Given the description of an element on the screen output the (x, y) to click on. 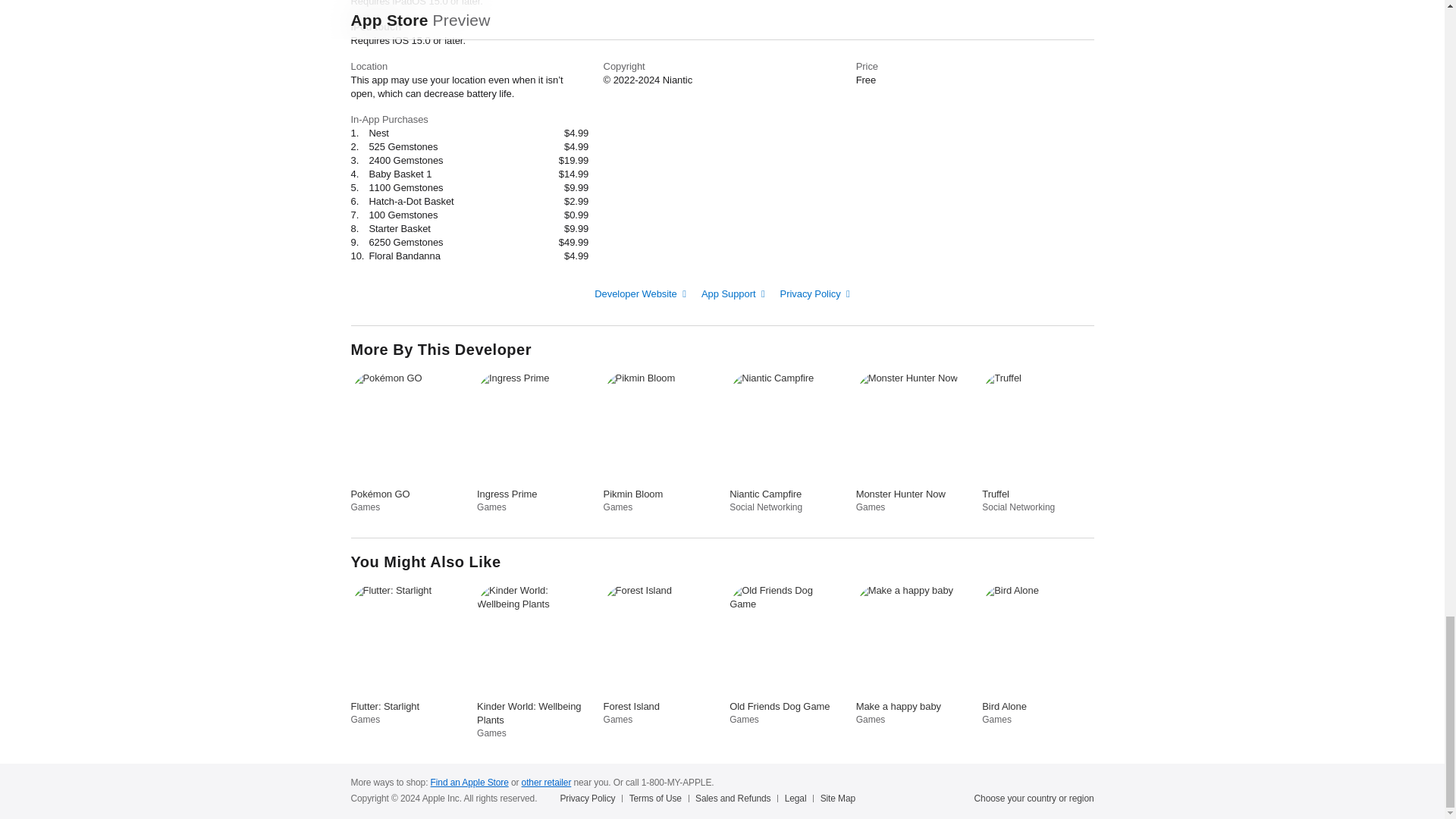
Choose your country or region (1034, 797)
Developer Website (639, 293)
App Support (733, 293)
Privacy Policy (815, 293)
